Given the description of an element on the screen output the (x, y) to click on. 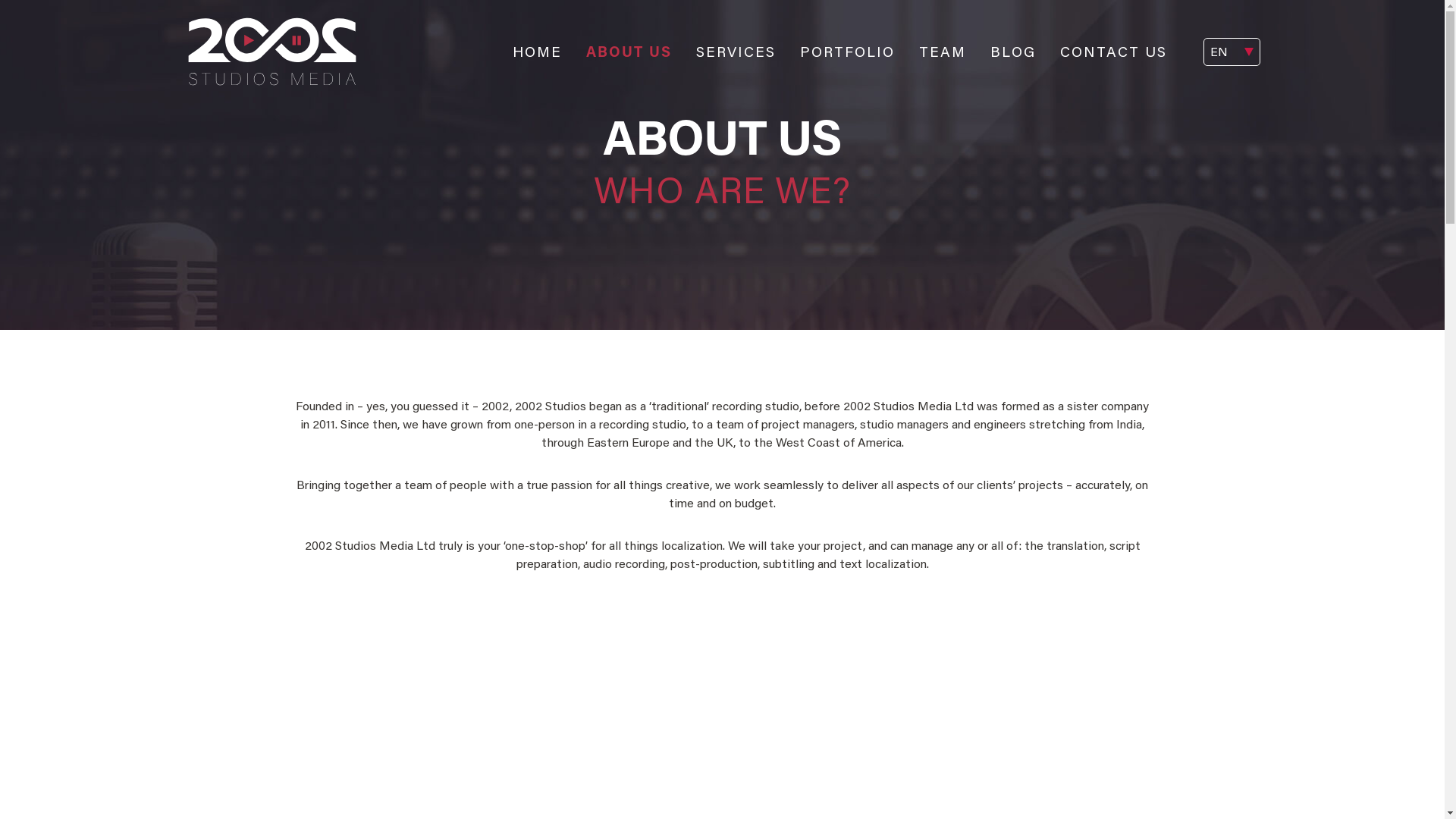
PORTFOLIO Element type: text (846, 53)
TEAM Element type: text (942, 53)
ABOUT US Element type: text (628, 53)
HOME Element type: text (537, 53)
SERVICES Element type: text (735, 53)
BLOG Element type: text (1013, 53)
CONTACT US Element type: text (1113, 53)
